Given the description of an element on the screen output the (x, y) to click on. 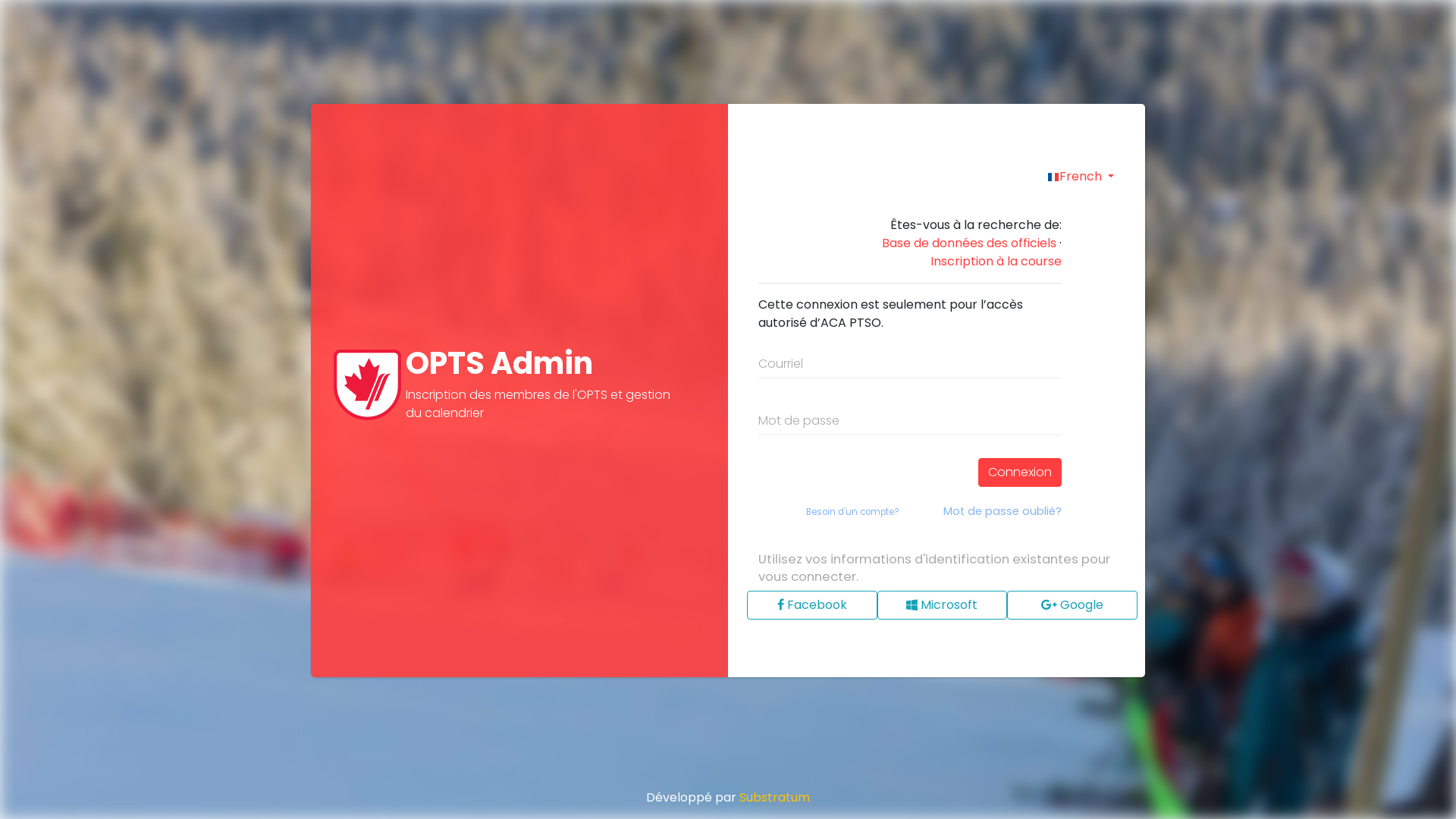
Microsoft Element type: text (942, 604)
Google Element type: text (1072, 604)
Besoin d'un compte? Element type: text (852, 511)
Substratum Element type: text (774, 797)
Facebook Element type: text (811, 604)
French Element type: text (1080, 176)
Connexion Element type: text (1019, 472)
